Given the description of an element on the screen output the (x, y) to click on. 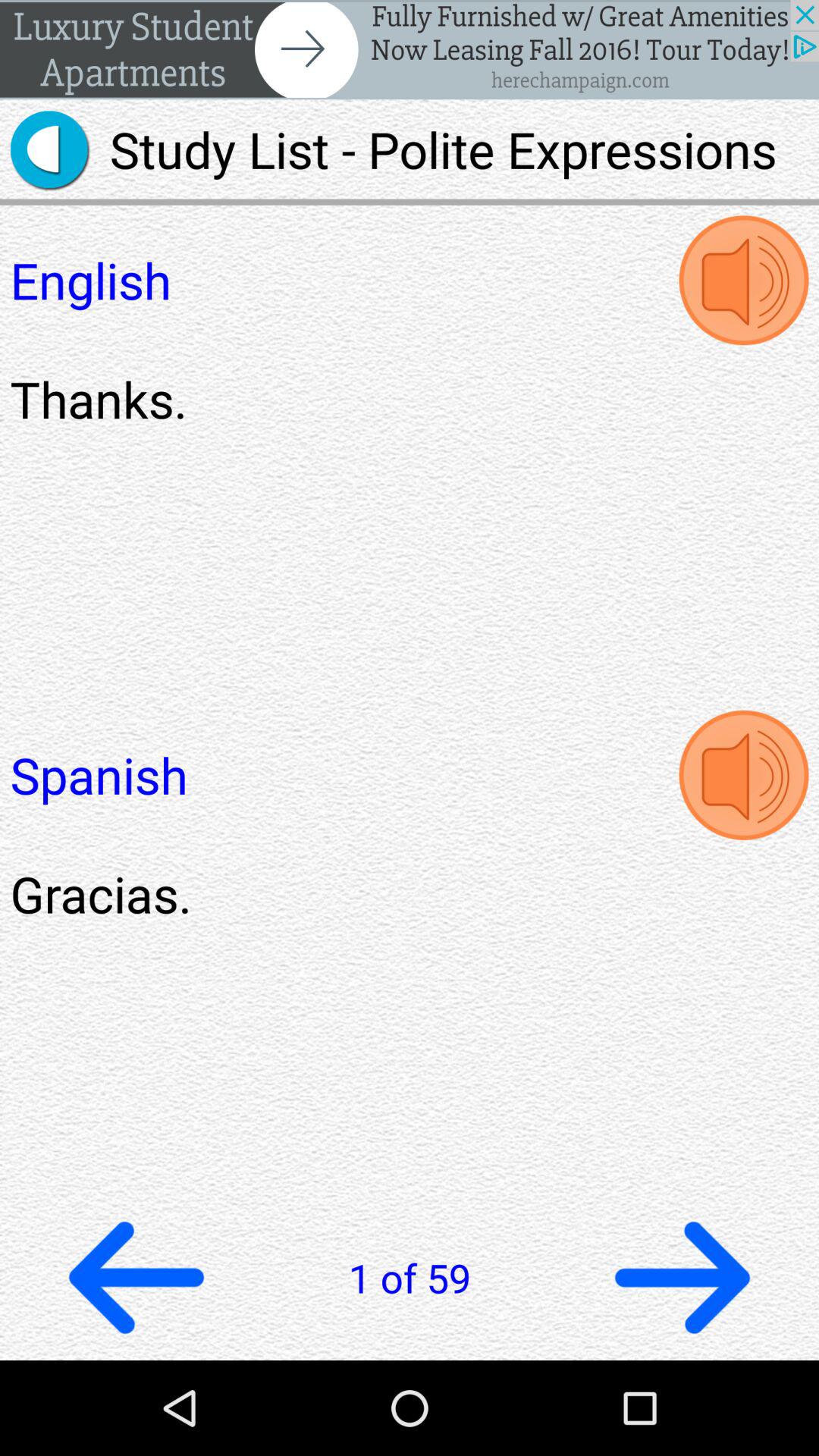
speaker (743, 280)
